Given the description of an element on the screen output the (x, y) to click on. 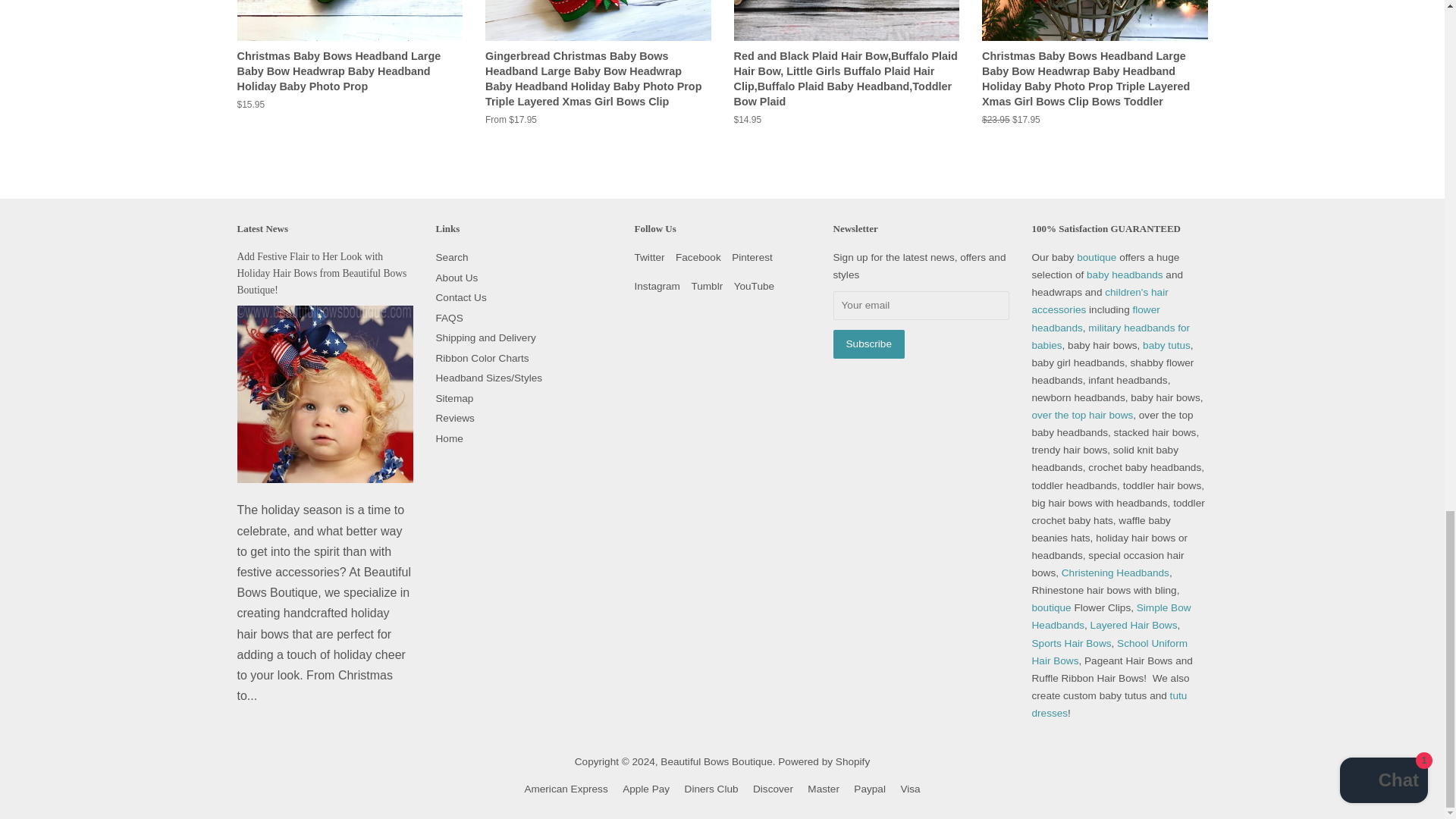
Flower Headbands (1094, 317)
Tutus (1166, 345)
Subscribe (868, 343)
New Arrivals (1098, 256)
Beautiful Bows Boutique on YouTube (753, 285)
Beautiful Bows Boutique on Twitter (648, 256)
Beautiful Bows Boutique on Tumblr (706, 285)
Beautiful Bows Boutique on Pinterest (752, 256)
Military Hair Bows (1109, 336)
Beautiful Bows Boutique on Facebook (697, 256)
Over the Top Hair Bows (1081, 414)
Beautiful Bows Boutique on Instagram (656, 285)
All Products (1098, 300)
Baby Headbands (1124, 274)
